Given the description of an element on the screen output the (x, y) to click on. 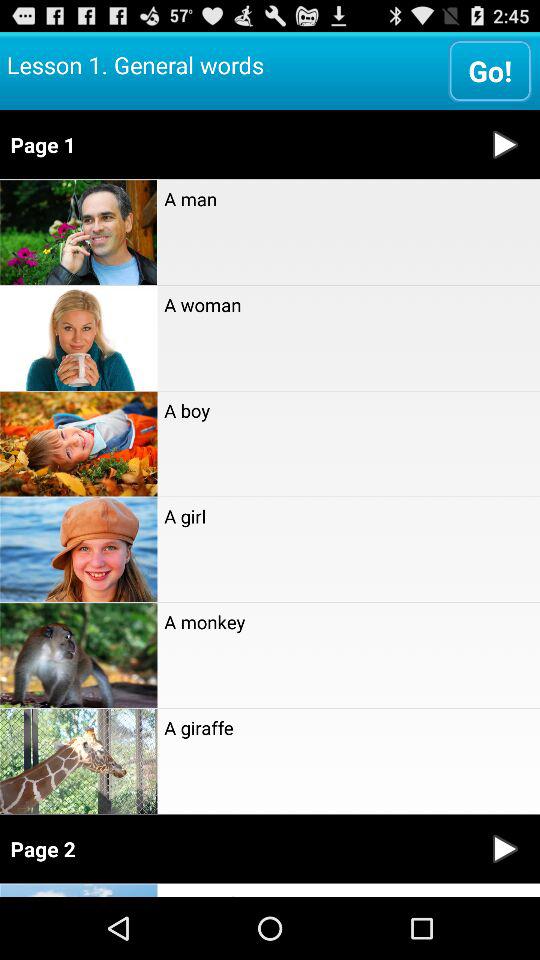
turn on icon next to the lesson 1 general icon (490, 70)
